Given the description of an element on the screen output the (x, y) to click on. 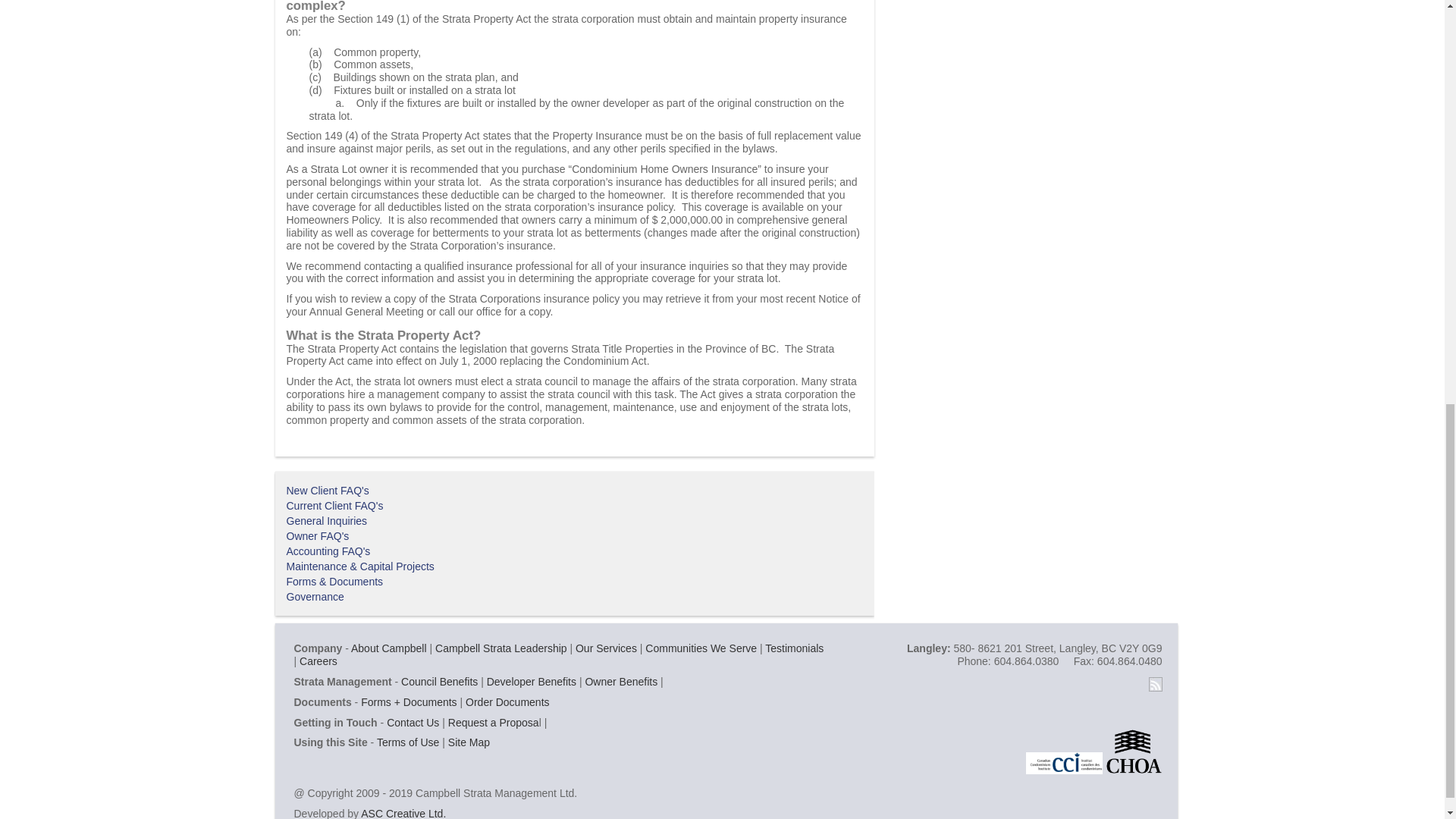
ASC Creative Ltd (403, 813)
Welcome to Campbell Strata Management (388, 648)
CHOA (1133, 750)
strata management (501, 648)
CCI (1064, 750)
